Given the description of an element on the screen output the (x, y) to click on. 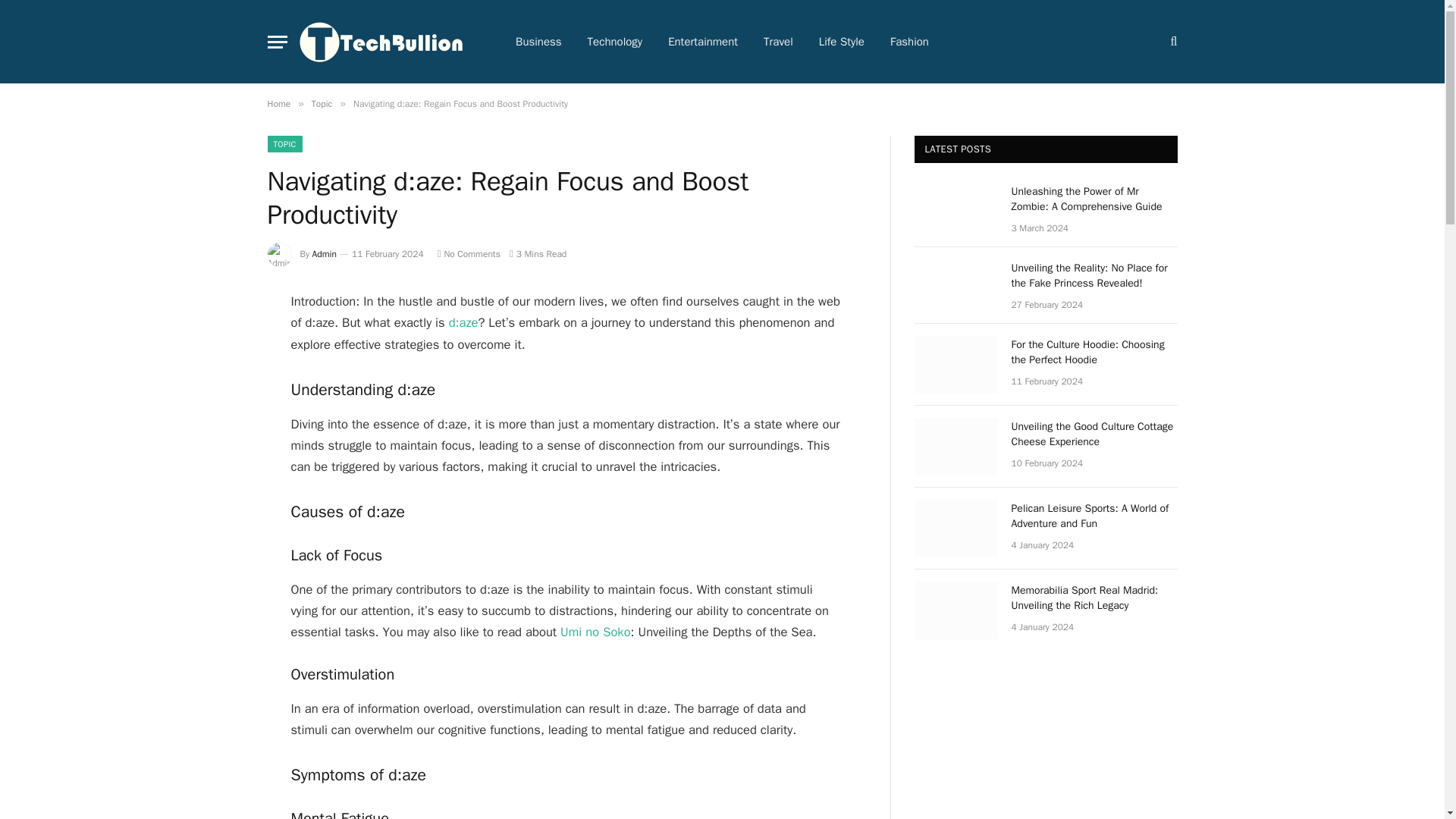
Umi no Soko (595, 631)
Home (277, 103)
For the Culture Hoodie: Choosing the Perfect Hoodie (1094, 352)
Unveiling the Good Culture Cottage Cheese Experience (955, 446)
Entertainment (703, 41)
Topic (322, 103)
Memorabilia Sport Real Madrid: Unveiling the Rich Legacy (955, 610)
TOPIC (283, 143)
Unveiling the Good Culture Cottage Cheese Experience (1094, 434)
Technology (615, 41)
Admin (324, 254)
d:aze (463, 322)
Posts by Admin (324, 254)
No Comments (469, 254)
